Given the description of an element on the screen output the (x, y) to click on. 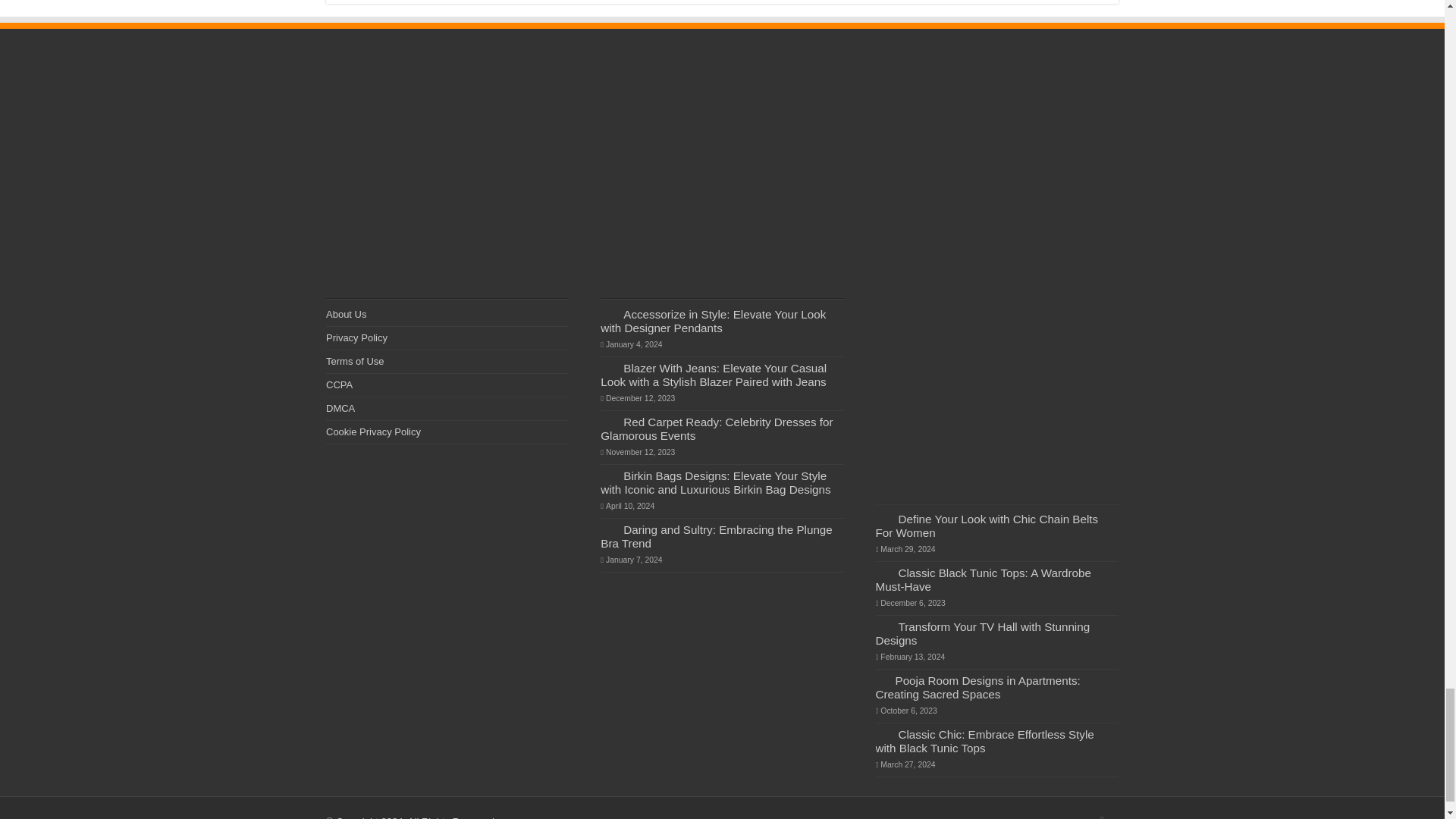
Rss (1102, 815)
